Given the description of an element on the screen output the (x, y) to click on. 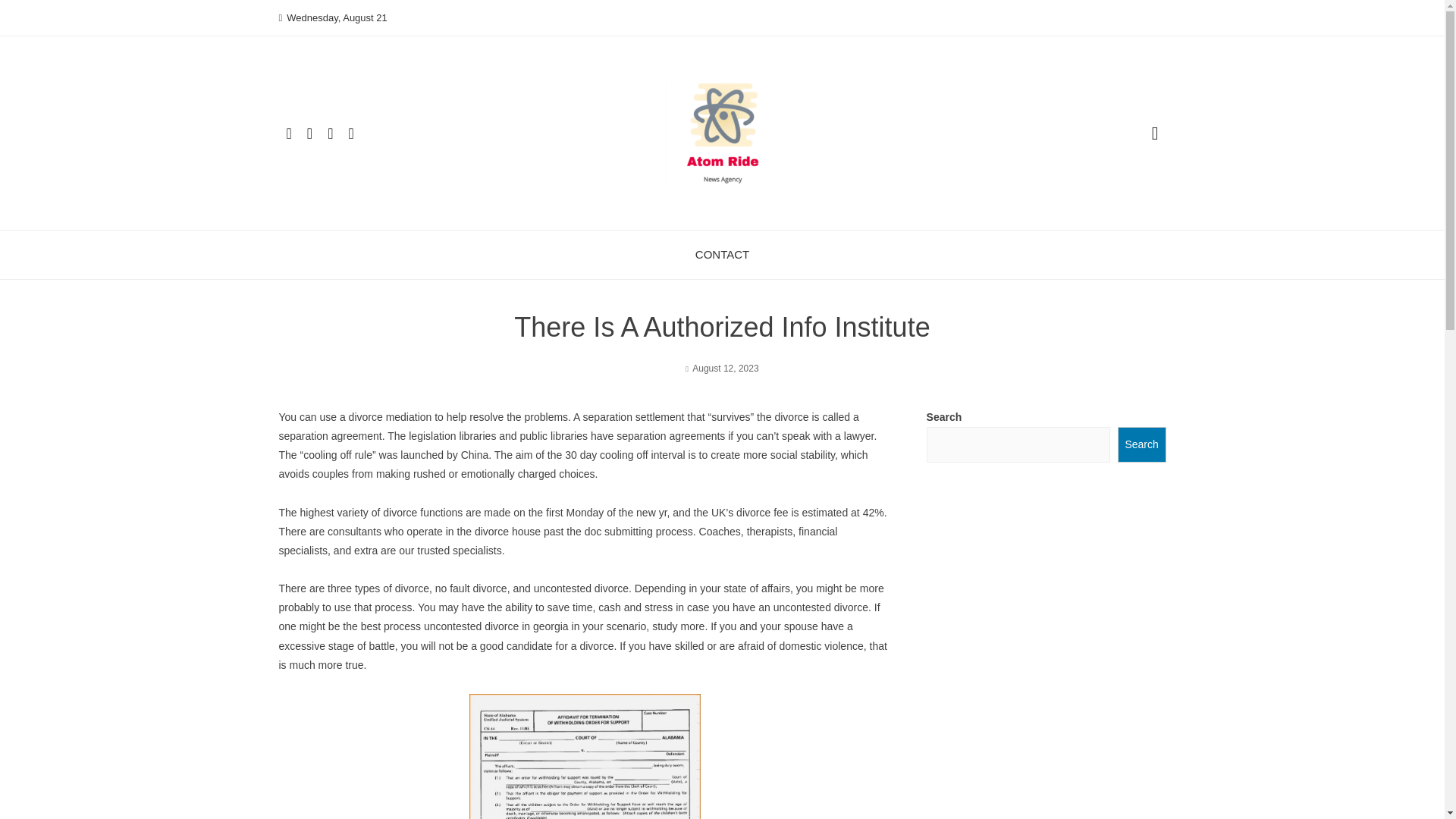
uncontested divorce in georgia (496, 625)
CONTACT (722, 254)
Search (1142, 444)
